Given the description of an element on the screen output the (x, y) to click on. 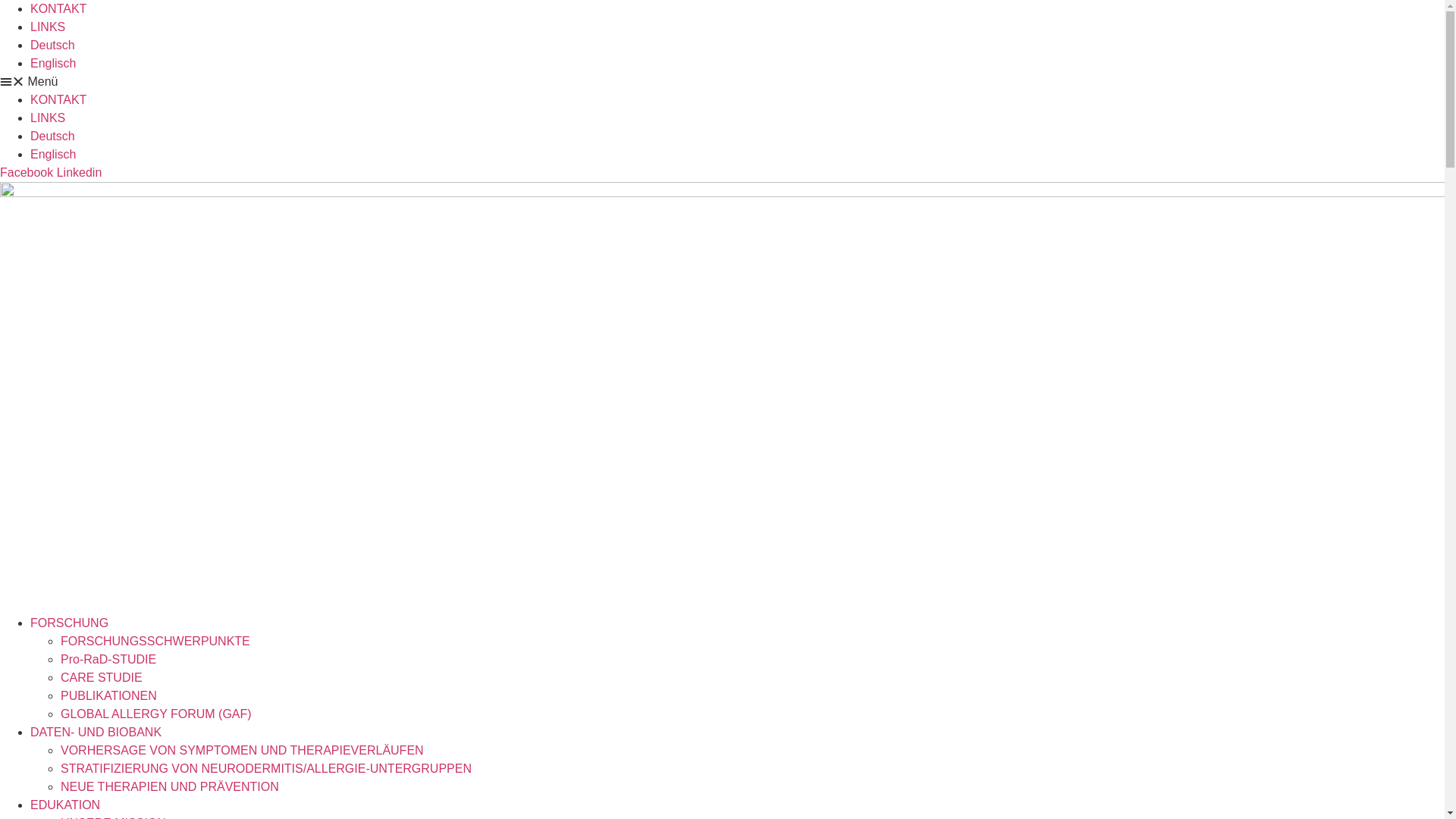
Linkedin Element type: text (79, 172)
Englisch Element type: text (737, 154)
Facebook Element type: text (28, 172)
STRATIFIZIERUNG VON NEURODERMITIS/ALLERGIE-UNTERGRUPPEN Element type: text (265, 768)
PUBLIKATIONEN Element type: text (108, 695)
KONTAKT Element type: text (58, 8)
CARE STUDIE Element type: text (101, 677)
FORSCHUNG Element type: text (69, 622)
LINKS Element type: text (47, 26)
EDUKATION Element type: text (65, 804)
LINKS Element type: text (47, 117)
Englisch Element type: text (737, 63)
FORSCHUNGSSCHWERPUNKTE Element type: text (155, 640)
Deutsch Element type: text (737, 45)
KONTAKT Element type: text (58, 99)
DATEN- UND BIOBANK Element type: text (95, 731)
GLOBAL ALLERGY FORUM (GAF) Element type: text (155, 713)
Deutsch Element type: text (737, 136)
Pro-RaD-STUDIE Element type: text (108, 658)
